Given the description of an element on the screen output the (x, y) to click on. 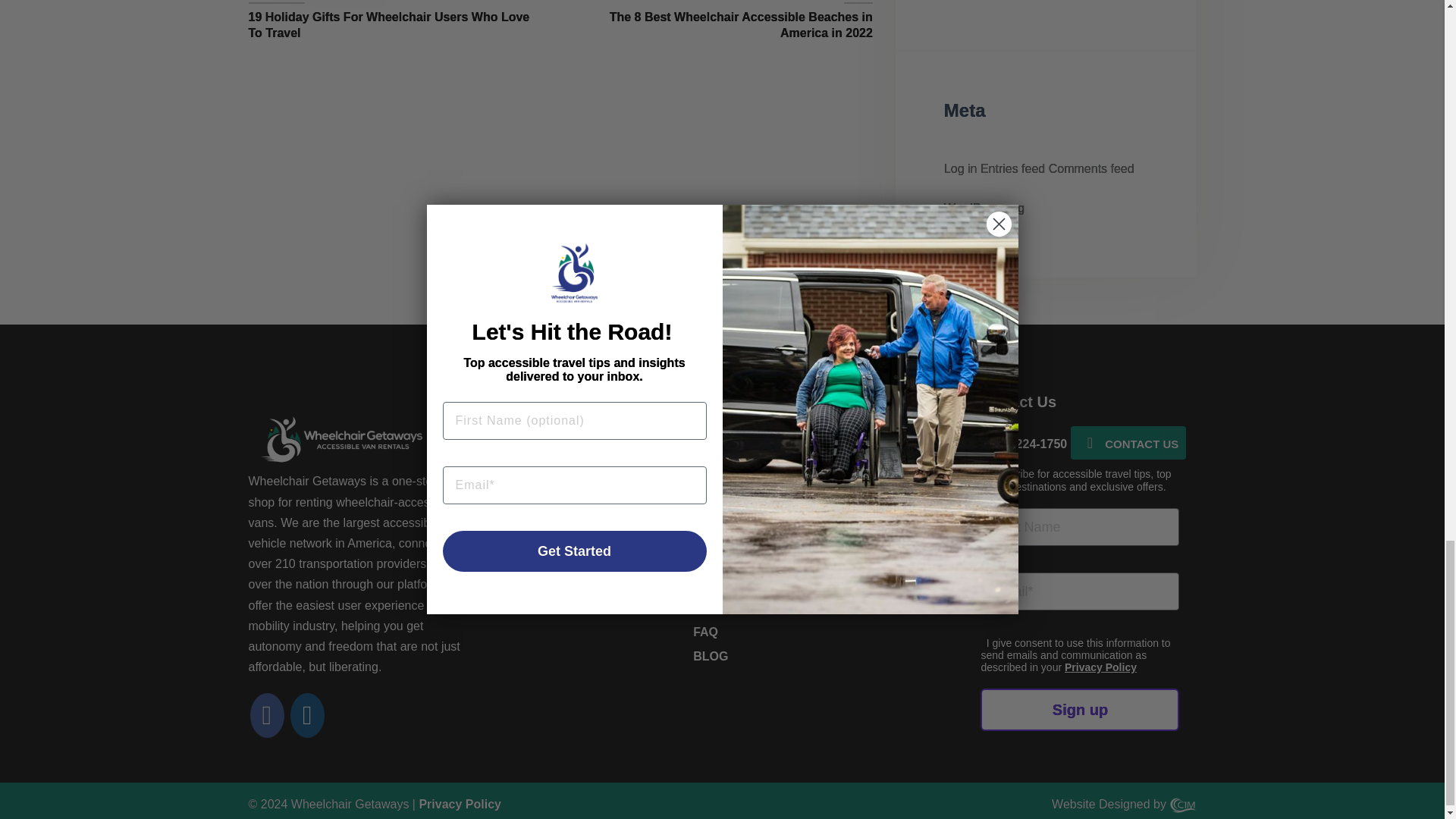
Instagram (307, 719)
Facebook (266, 719)
